Given the description of an element on the screen output the (x, y) to click on. 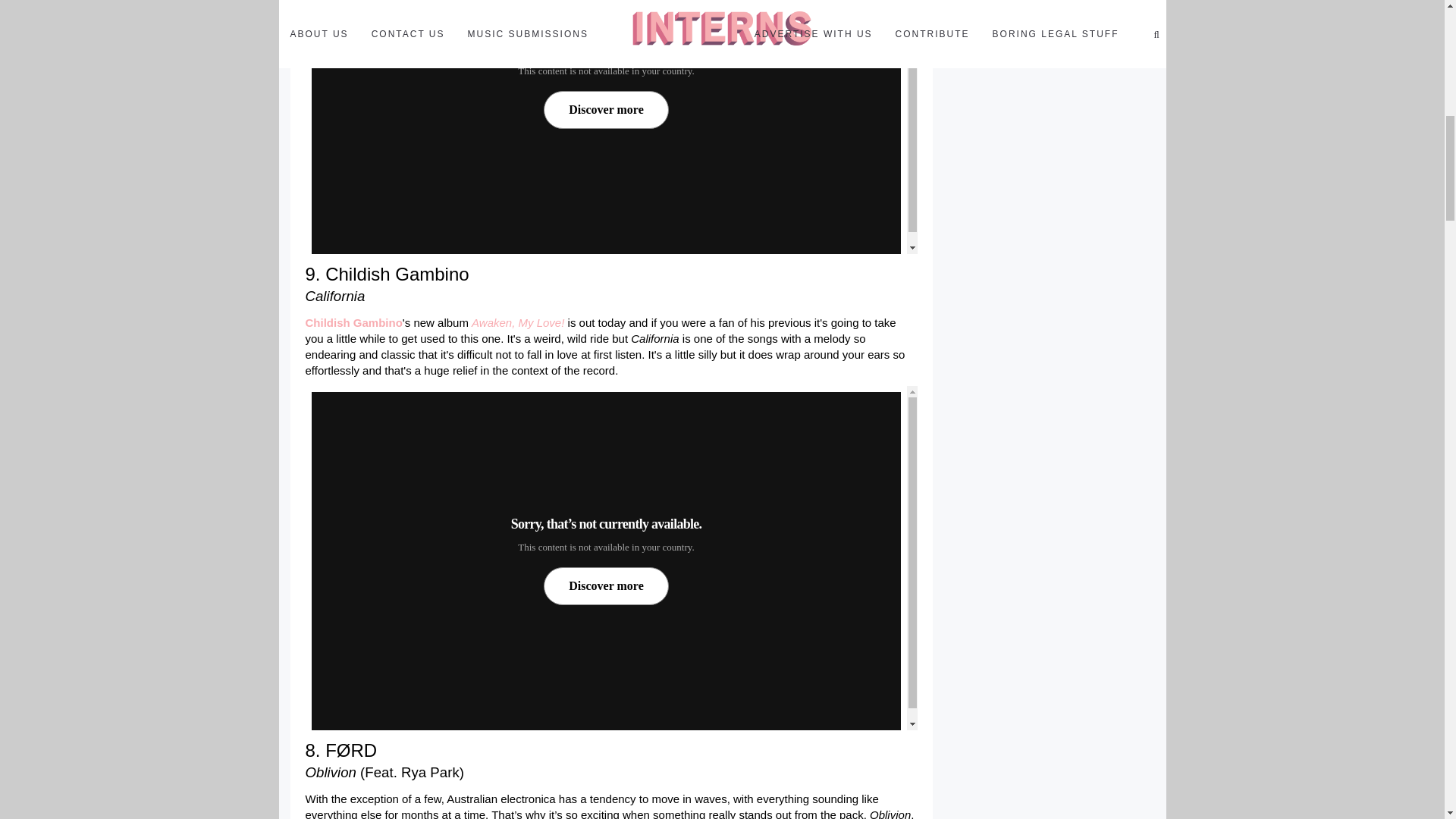
Awaken, My Love! (517, 322)
Childish Gambino (352, 322)
